Given the description of an element on the screen output the (x, y) to click on. 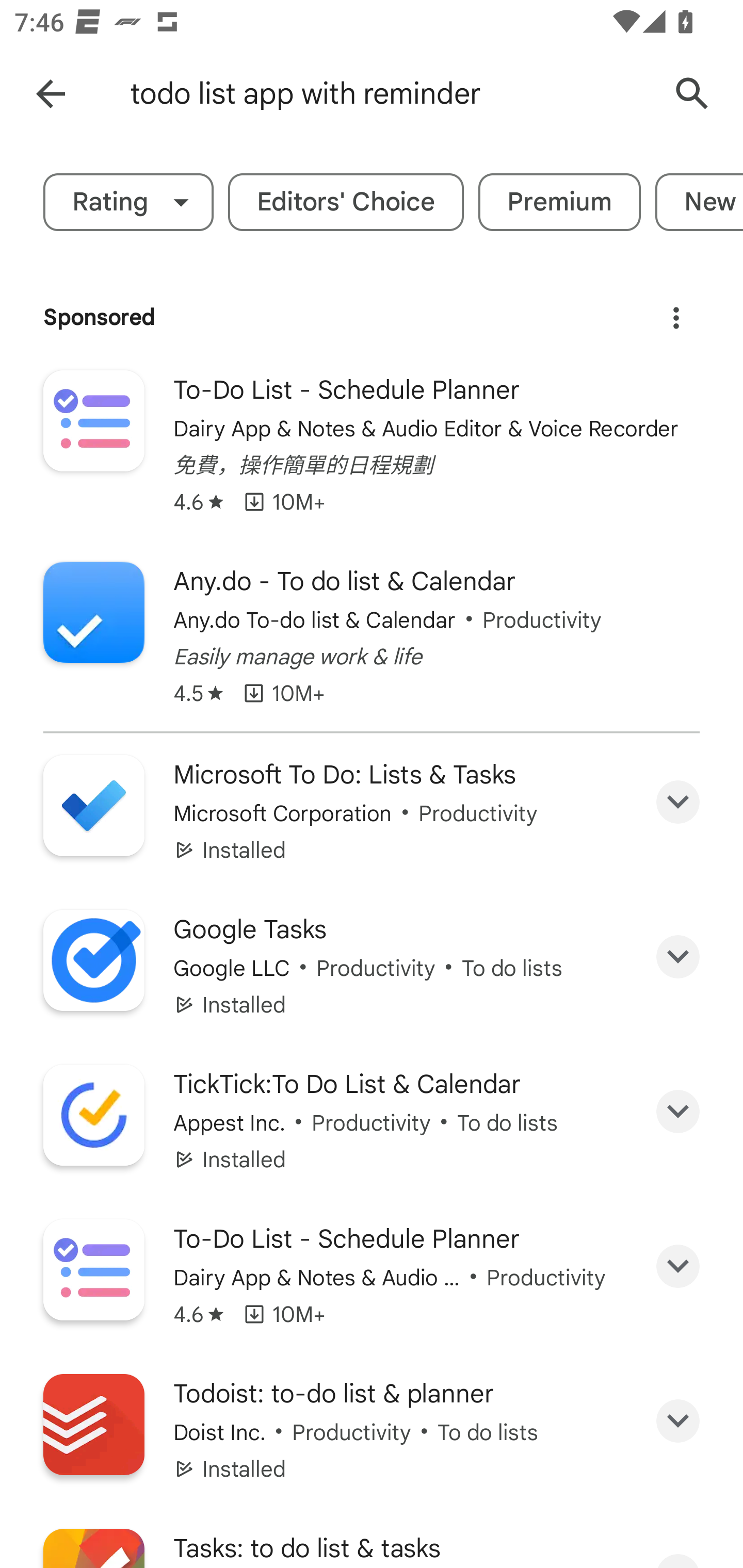
todo list app with reminder (389, 93)
Navigate up (50, 93)
Search Google Play (692, 93)
Rating - double tap to change the filter (128, 202)
Editors' Choice - double tap to toggle the filter (345, 202)
Premium - double tap to toggle the filter (559, 202)
New - double tap to toggle the filter (699, 202)
About this ad (676, 311)
Expand content for Microsoft To Do: Lists & Tasks (677, 801)
Expand content for Google Tasks (677, 957)
Expand content for TickTick:To Do List & Calendar (677, 1111)
Expand content for To-Do List - Schedule Planner (677, 1266)
Expand content for Todoist: to-do list & planner (677, 1421)
